Given the description of an element on the screen output the (x, y) to click on. 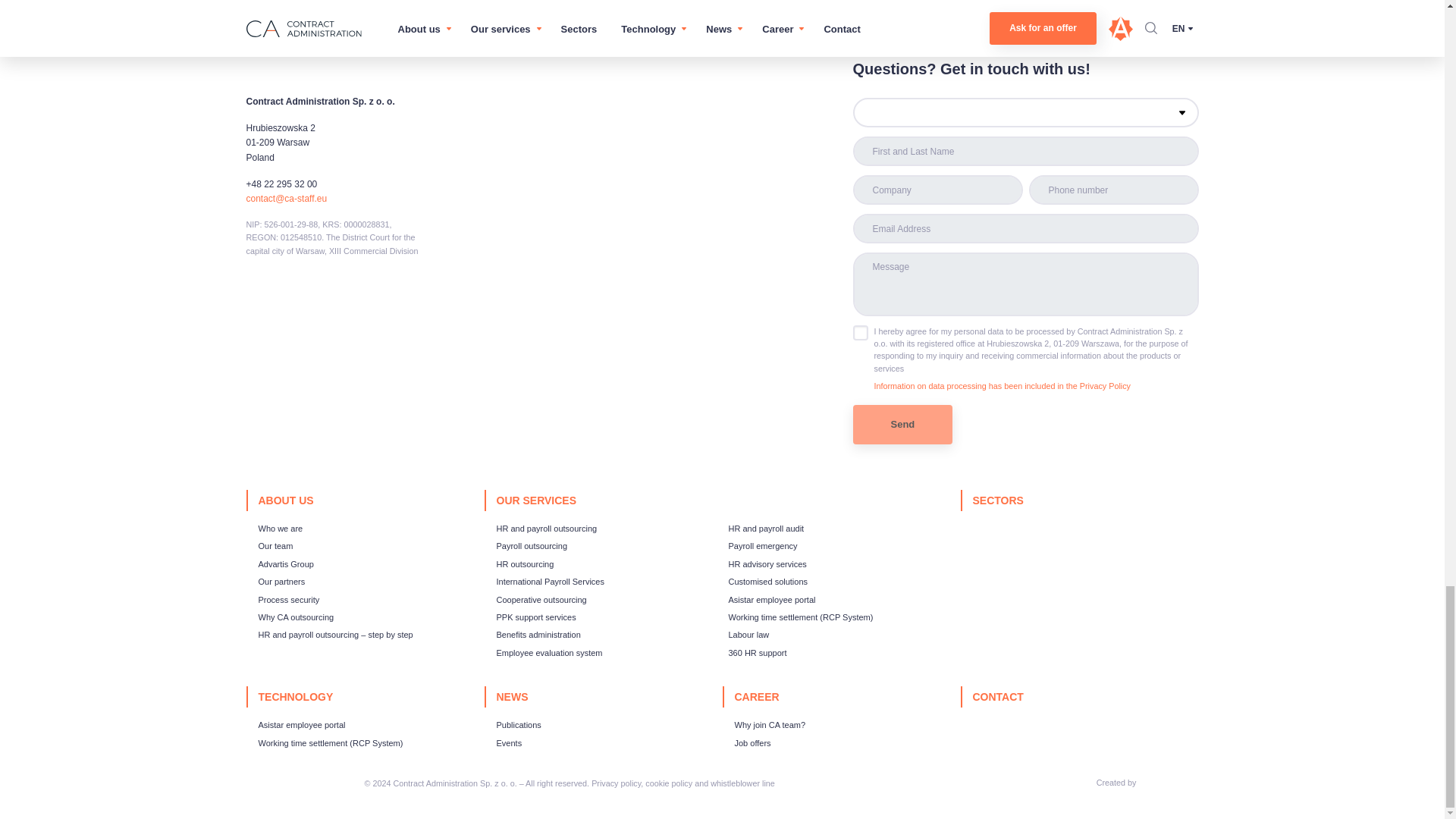
1 (859, 332)
